Given the description of an element on the screen output the (x, y) to click on. 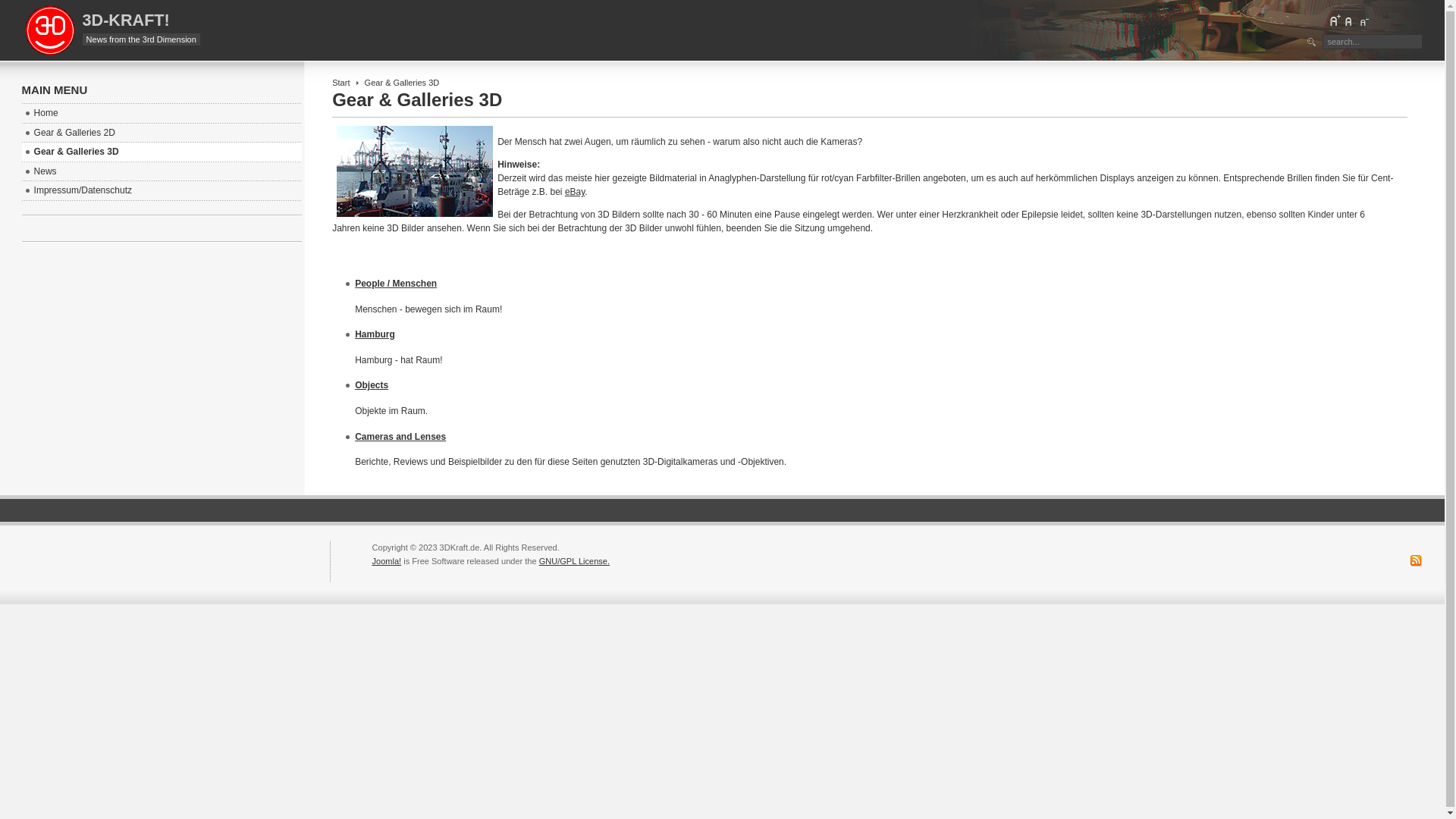
Joomla! Element type: text (386, 560)
People / Menschen Element type: text (395, 283)
Home Element type: text (161, 113)
Gear & Galleries 3D Element type: text (161, 152)
Hamburg Element type: text (374, 334)
News Element type: text (161, 172)
Default font size Element type: hover (1349, 20)
Decrease font size Element type: hover (1363, 20)
Start Element type: text (340, 82)
Impressum/Datenschutz Element type: text (161, 190)
Objects Element type: text (371, 384)
Gear & Galleries 2D Element type: text (161, 133)
3DKraft.de Element type: hover (49, 30)
Cameras and Lenses Element type: text (399, 436)
Increase font size Element type: hover (1334, 20)
GNU/GPL License. Element type: text (574, 560)
3D-KRAFT! Element type: text (125, 20)
eBay Element type: text (574, 191)
